Given the description of an element on the screen output the (x, y) to click on. 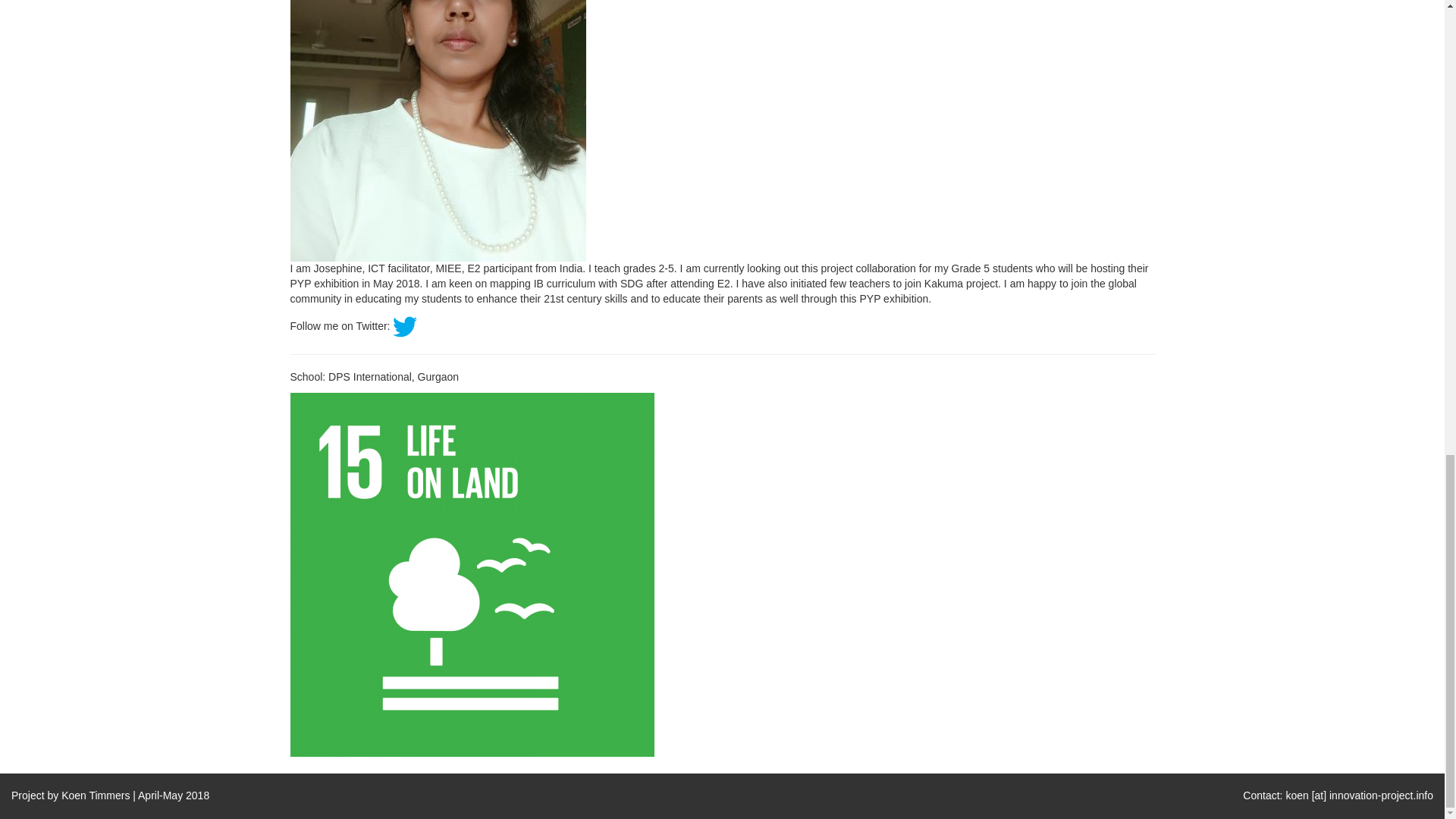
josephinekulandairaj (437, 78)
josephinekulandairaj (471, 573)
Koen Timmers (95, 795)
